Given the description of an element on the screen output the (x, y) to click on. 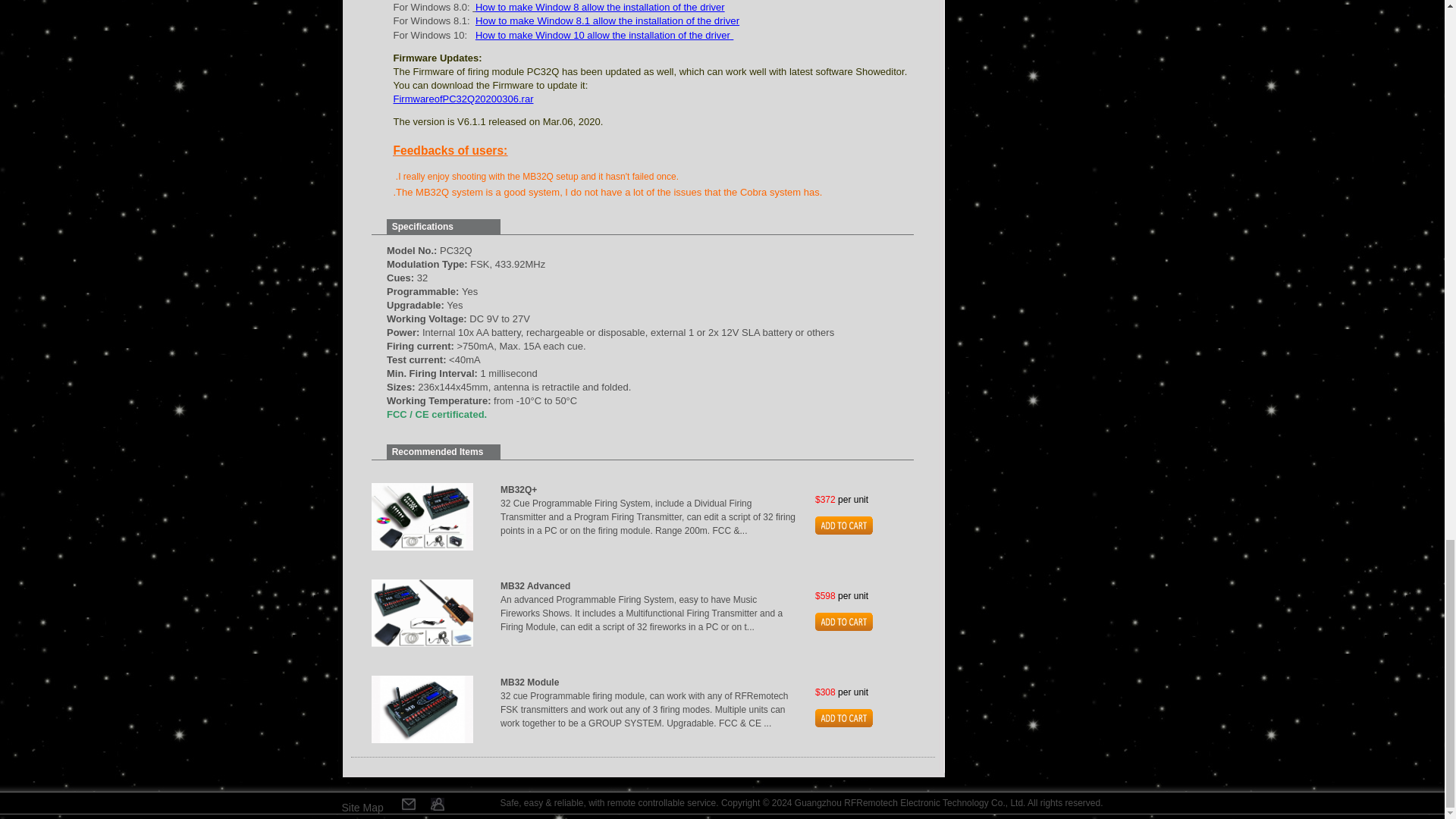
FirmwareofPC32Q20200306.rar (462, 98)
How to make Window 10 allow the installation of the driver (603, 34)
How to make Window 8 allow the installation of the driver (600, 7)
How to make Window 8.1 allow the installation of the driver (607, 19)
32 Cue Programmable Firing Module PC32Q Set (422, 708)
Feedbacks of users: (449, 151)
